Given the description of an element on the screen output the (x, y) to click on. 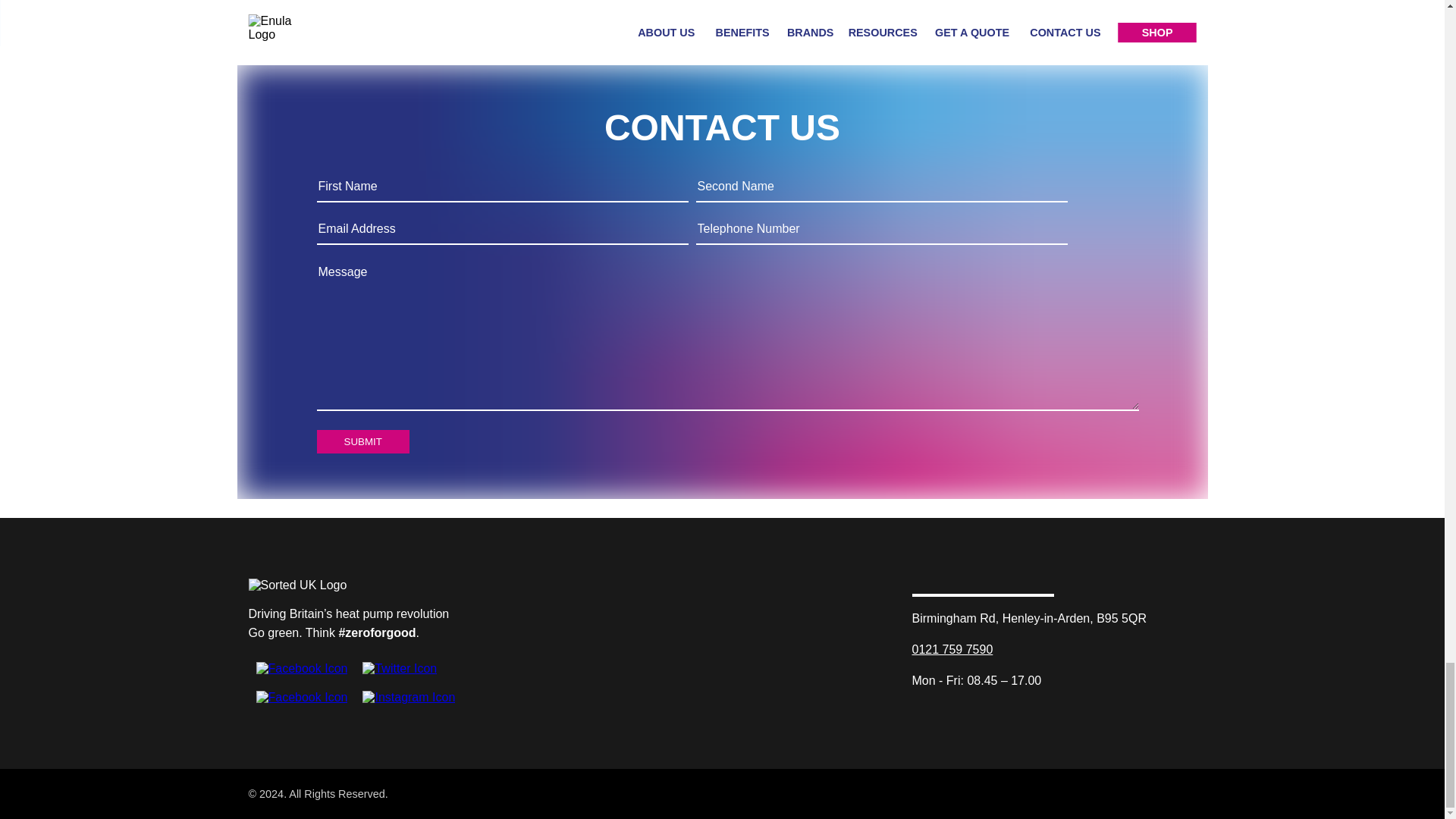
REQUEST A QUOTE (721, 4)
SUBMIT (363, 441)
0121 759 7590 (951, 649)
